Given the description of an element on the screen output the (x, y) to click on. 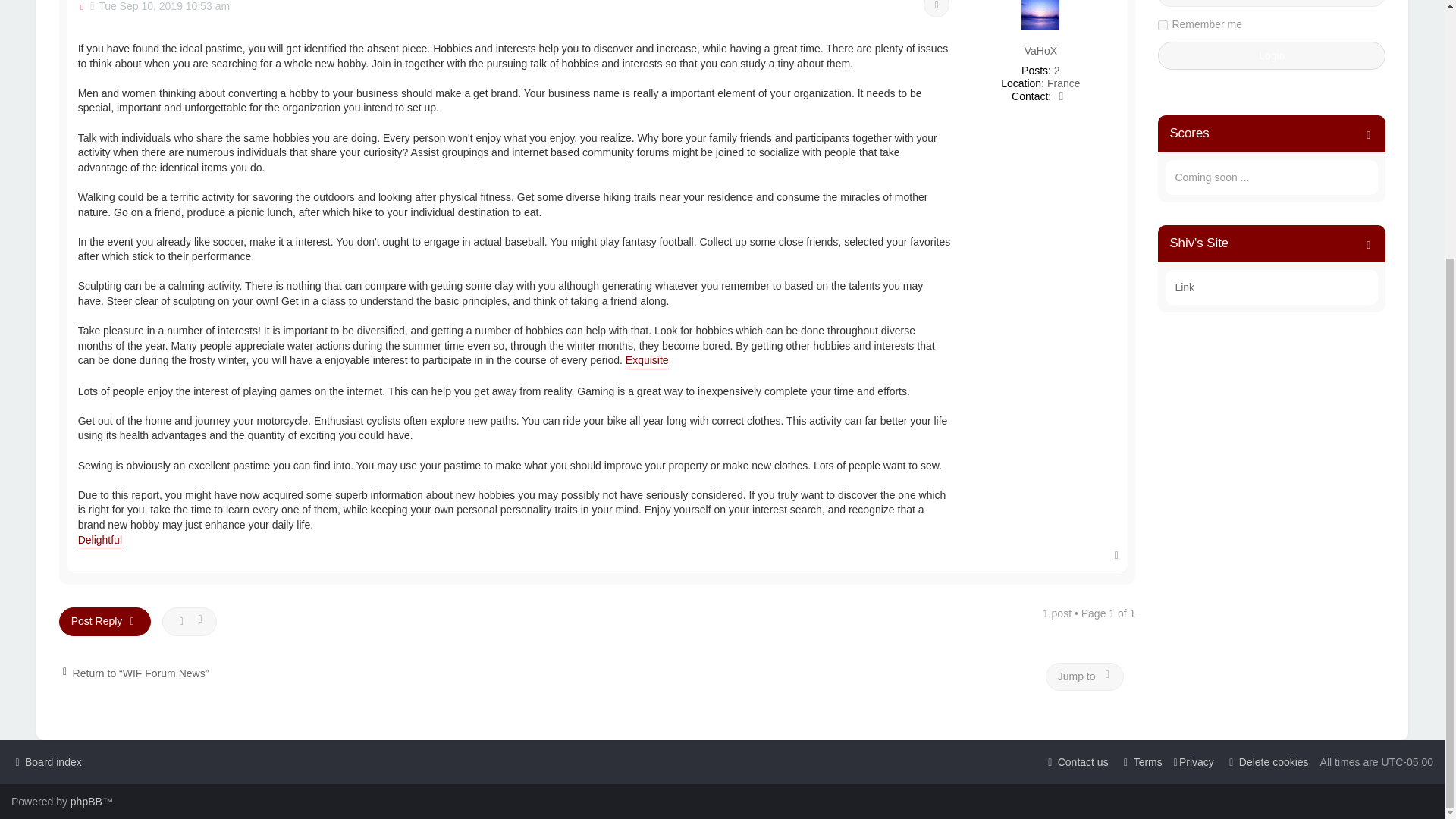
VaHoX (1041, 51)
Exquisite (647, 360)
Delightful (100, 540)
Top (1116, 554)
Contact VaHoX (1062, 96)
on (1162, 25)
Top (1116, 554)
Reply with quote (936, 9)
Tue Sep 10, 2019 10:53 am (160, 6)
Unread post (160, 6)
